Given the description of an element on the screen output the (x, y) to click on. 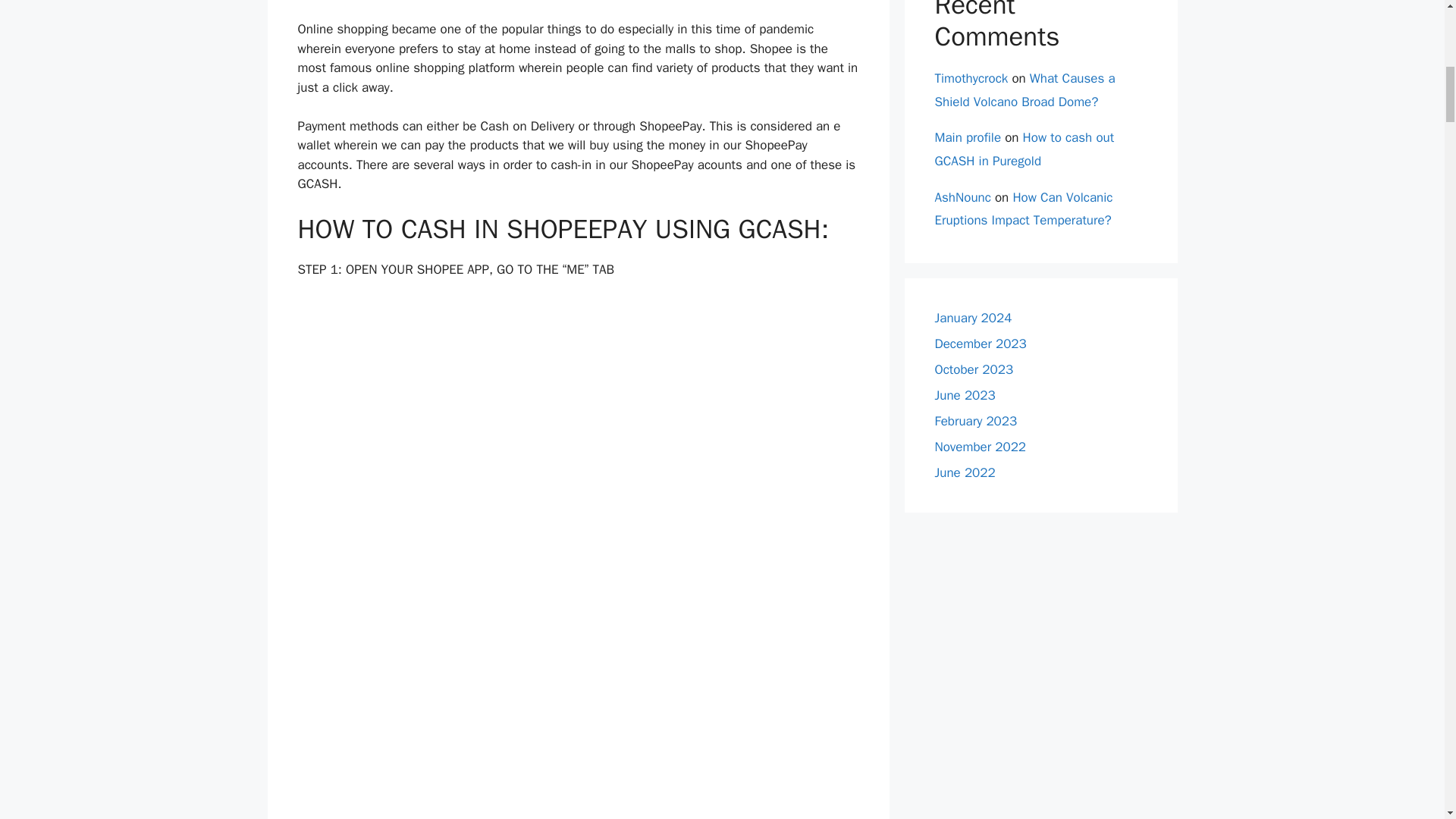
Timothycrock (970, 78)
Main profile (967, 137)
How to cash out GCASH in Puregold (1023, 148)
June 2023 (964, 395)
June 2022 (964, 472)
February 2023 (975, 421)
November 2022 (980, 446)
How Can Volcanic Eruptions Impact Temperature? (1023, 209)
What Causes a Shield Volcano Broad Dome? (1024, 89)
December 2023 (980, 343)
